Given the description of an element on the screen output the (x, y) to click on. 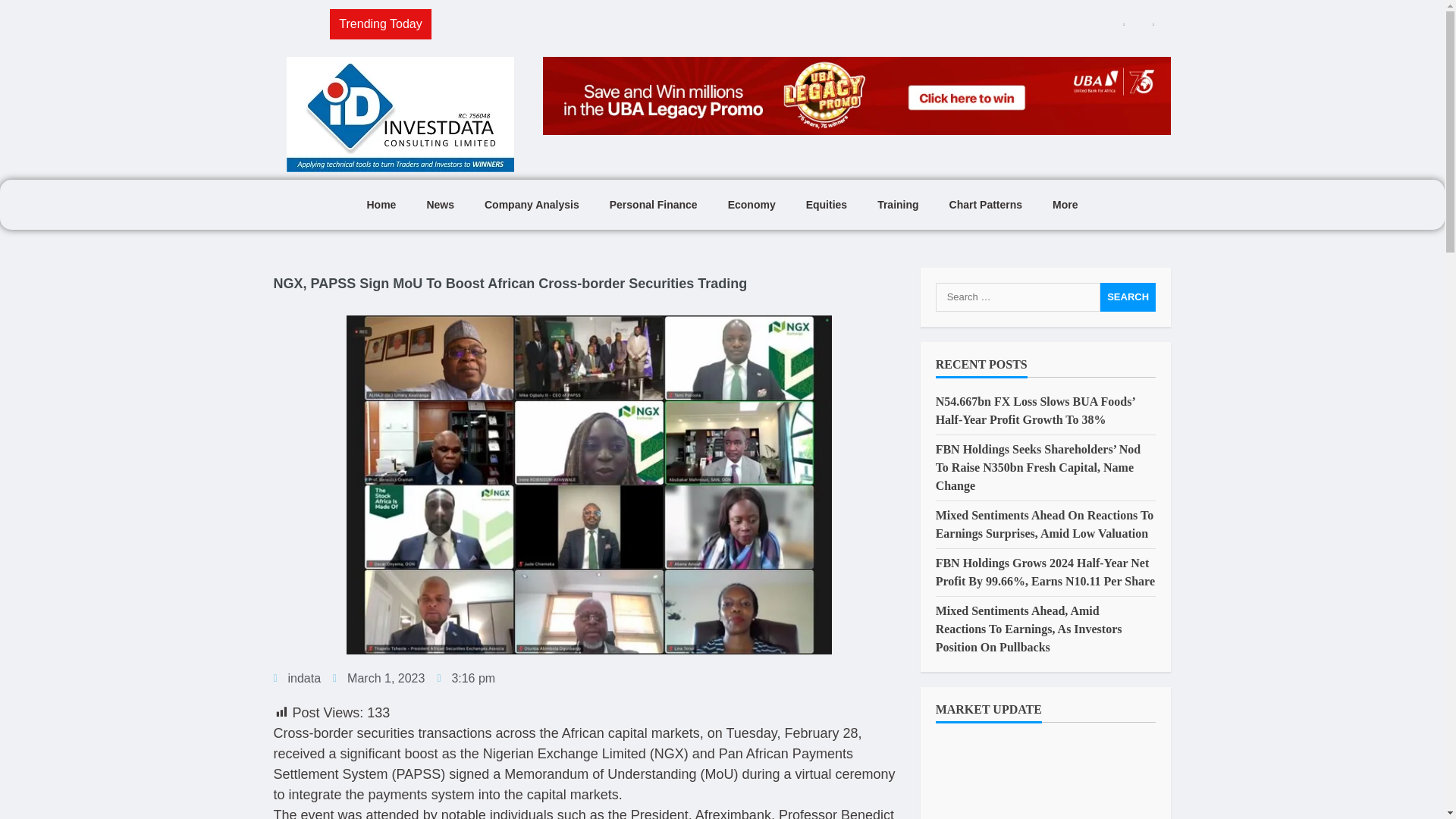
Equities (825, 204)
Company Analysis (531, 204)
Search (1128, 297)
March 1, 2023 (379, 678)
More (1064, 204)
Home (380, 204)
News (439, 204)
Economy (751, 204)
indata (296, 678)
Search (1128, 297)
Chart Patterns (985, 204)
Search (1128, 297)
Personal Finance (653, 204)
Training (897, 204)
